Given the description of an element on the screen output the (x, y) to click on. 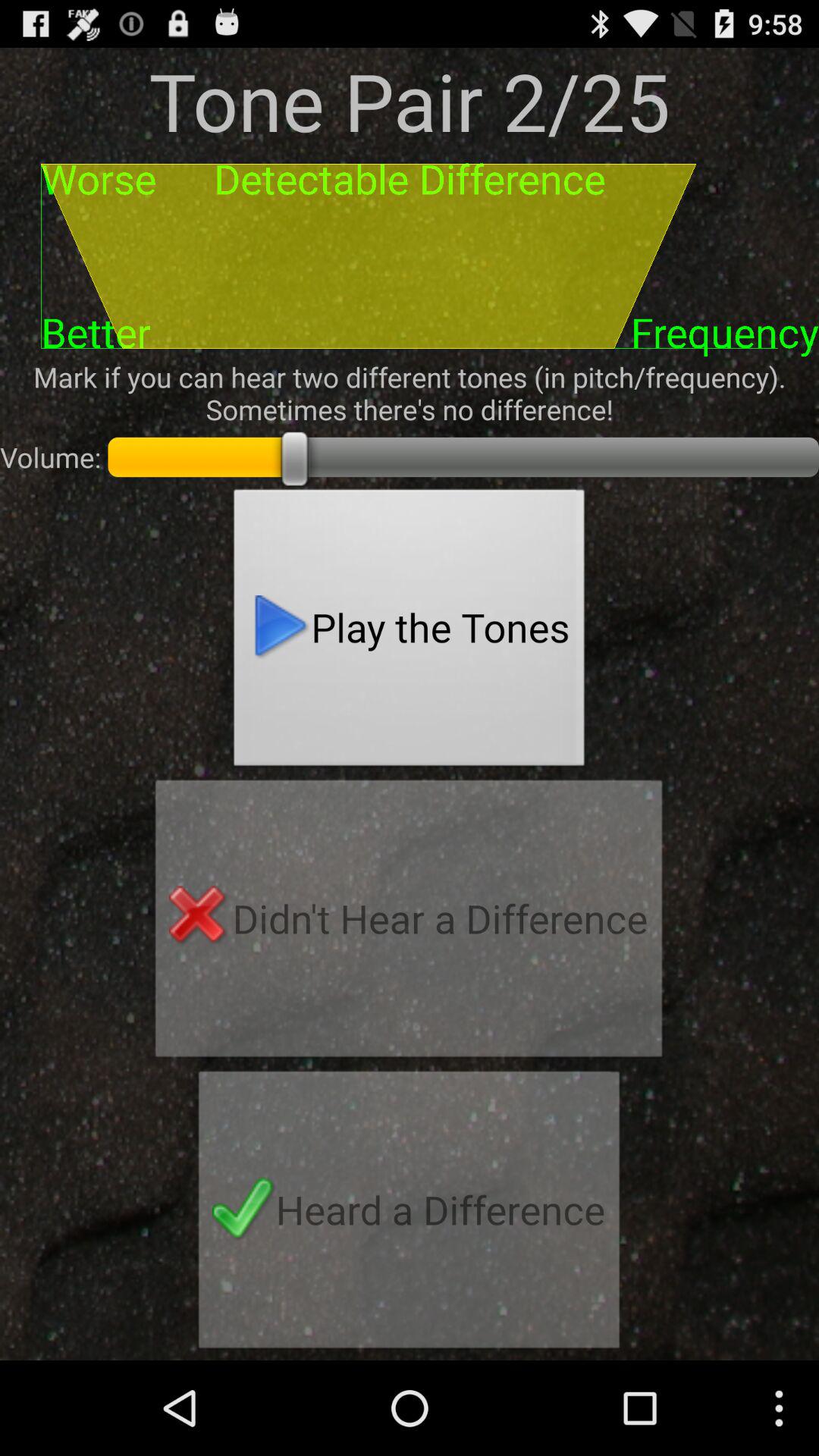
press the item above didn t hear item (409, 631)
